Given the description of an element on the screen output the (x, y) to click on. 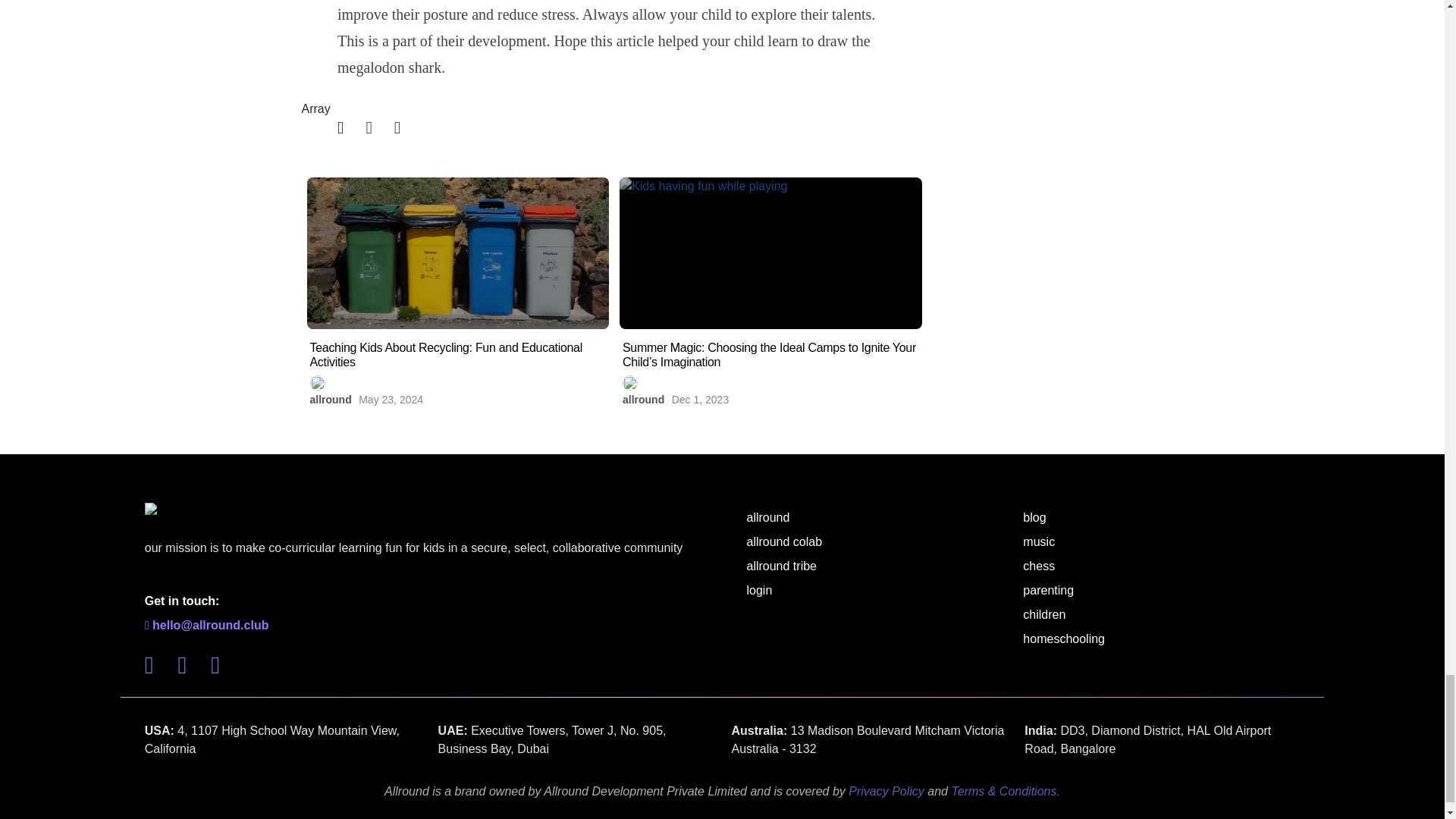
Posts by allround (329, 399)
Posts by allround (643, 399)
